Given the description of an element on the screen output the (x, y) to click on. 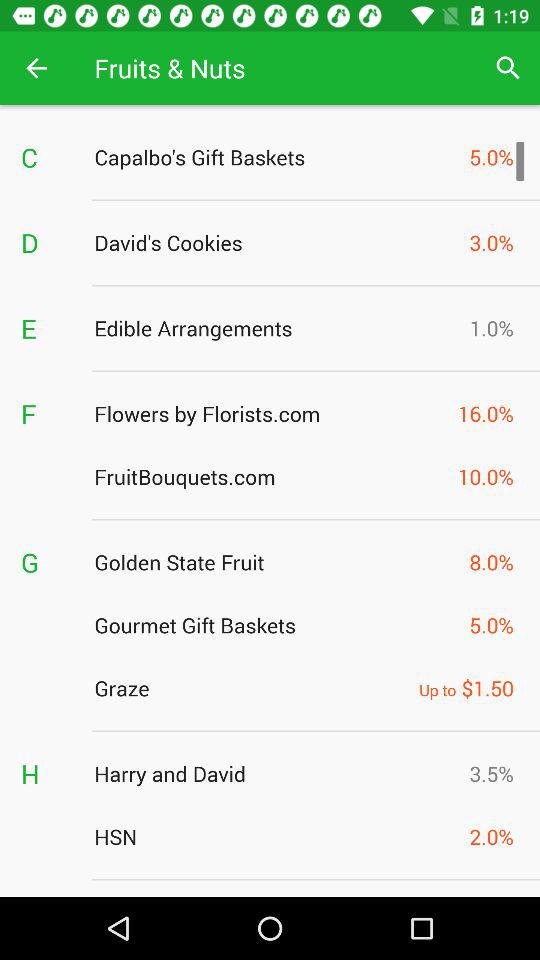
tap the icon above the c item (36, 68)
